Given the description of an element on the screen output the (x, y) to click on. 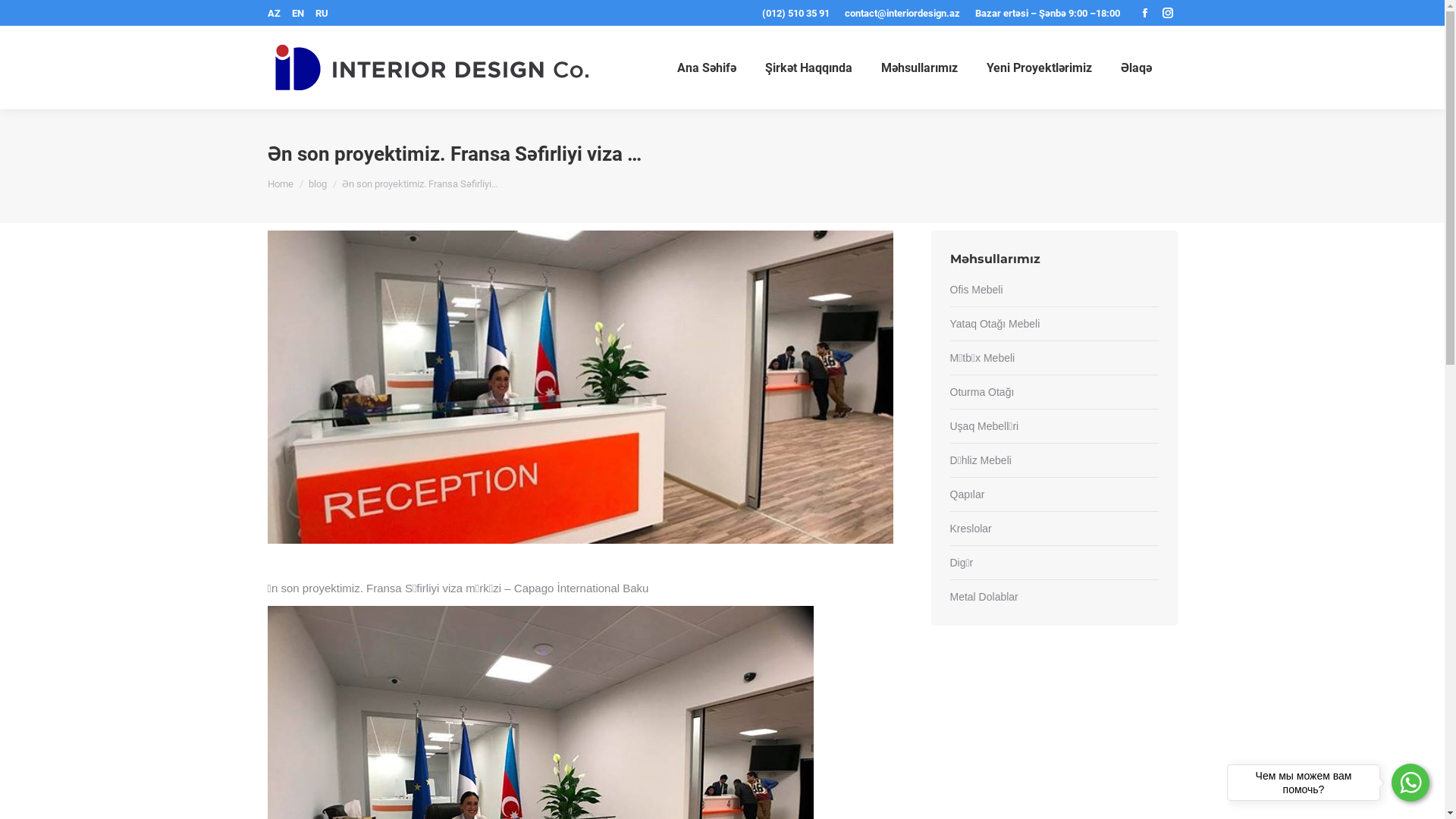
Facebook page opens in new window Element type: text (1144, 12)
Go! Element type: text (23, 15)
Ofis Mebeli Element type: text (975, 289)
Metal Dolablar Element type: text (983, 596)
Home Element type: text (279, 182)
34ecd16d.jpg Element type: hover (579, 386)
blog Element type: text (316, 182)
RU Element type: text (319, 12)
Kreslolar Element type: text (970, 528)
EN Element type: text (298, 12)
AZ Element type: text (272, 12)
Instagram page opens in new window Element type: text (1166, 12)
